Given the description of an element on the screen output the (x, y) to click on. 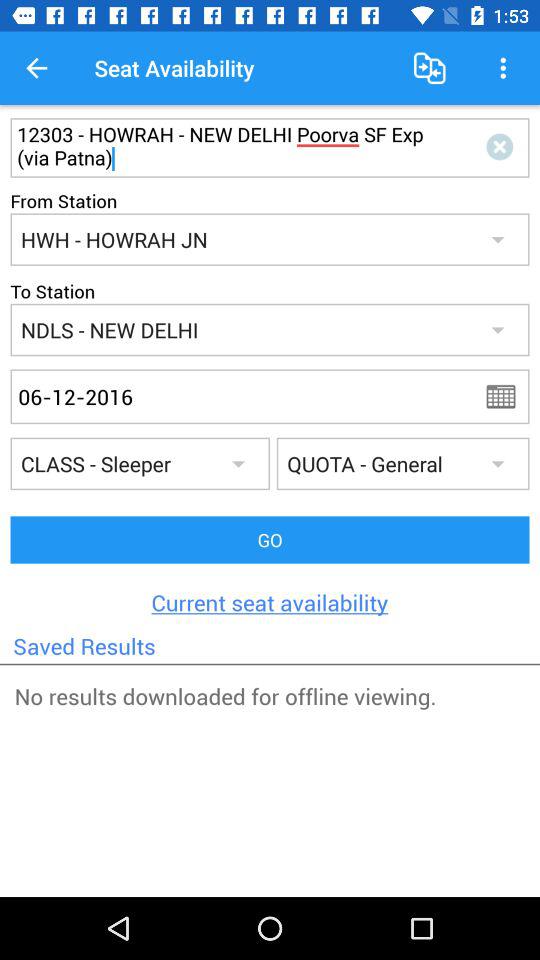
erase all writing (503, 147)
